Given the description of an element on the screen output the (x, y) to click on. 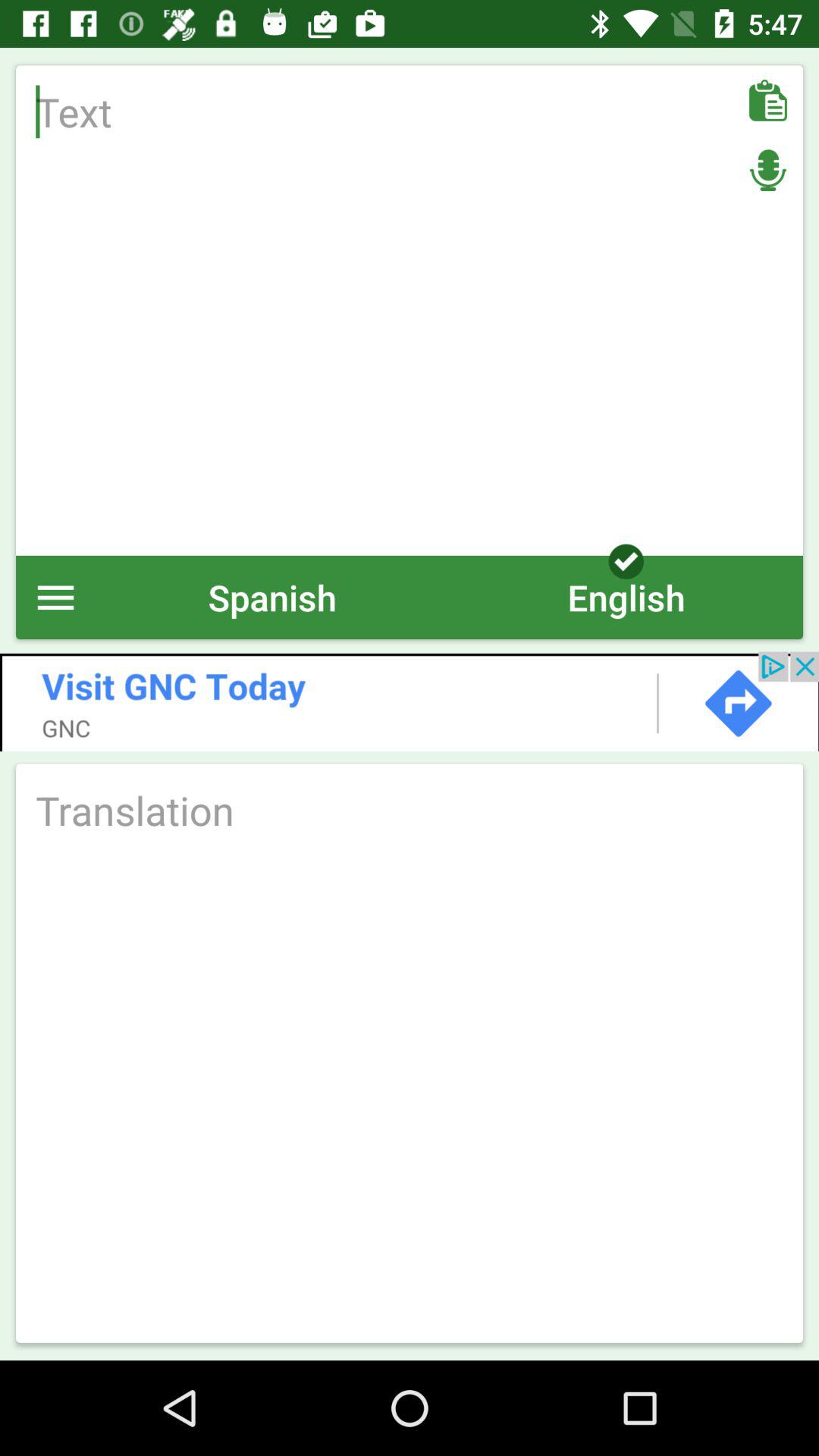
open menu (55, 597)
